Given the description of an element on the screen output the (x, y) to click on. 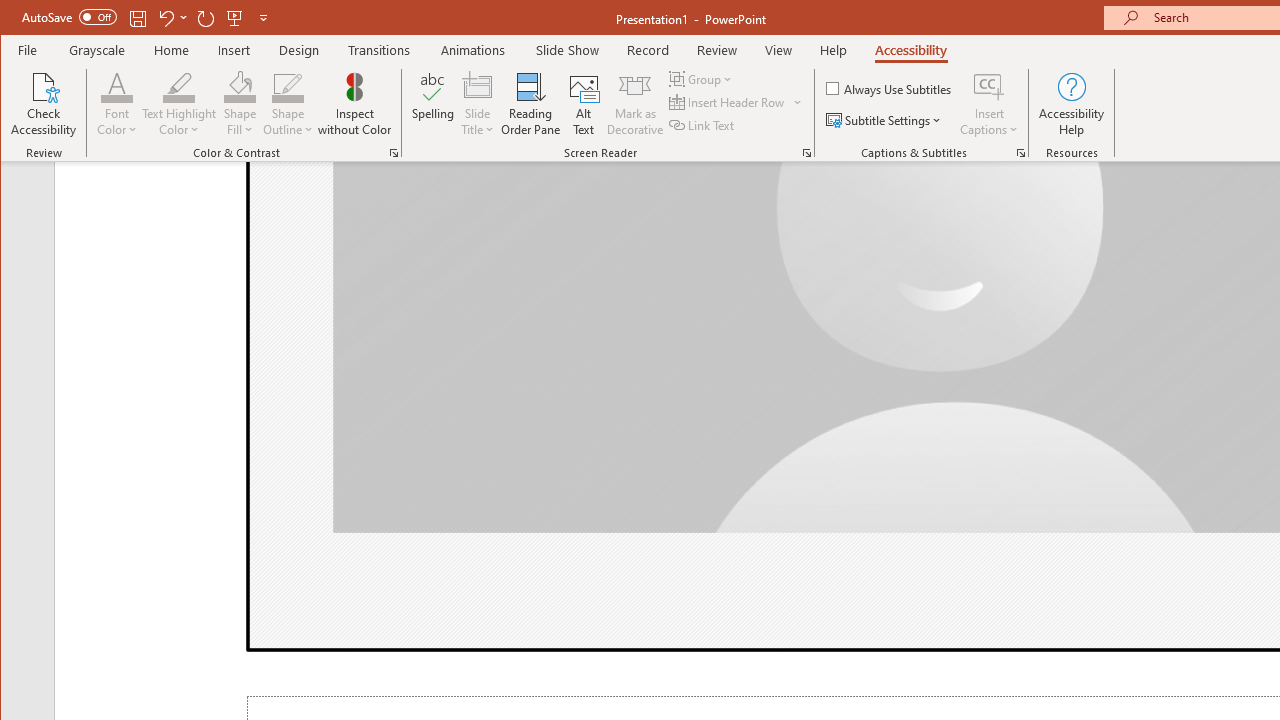
Always Use Subtitles (890, 88)
Subtitle Settings (885, 119)
Insert Captions (989, 86)
Slide Title (477, 104)
